Given the description of an element on the screen output the (x, y) to click on. 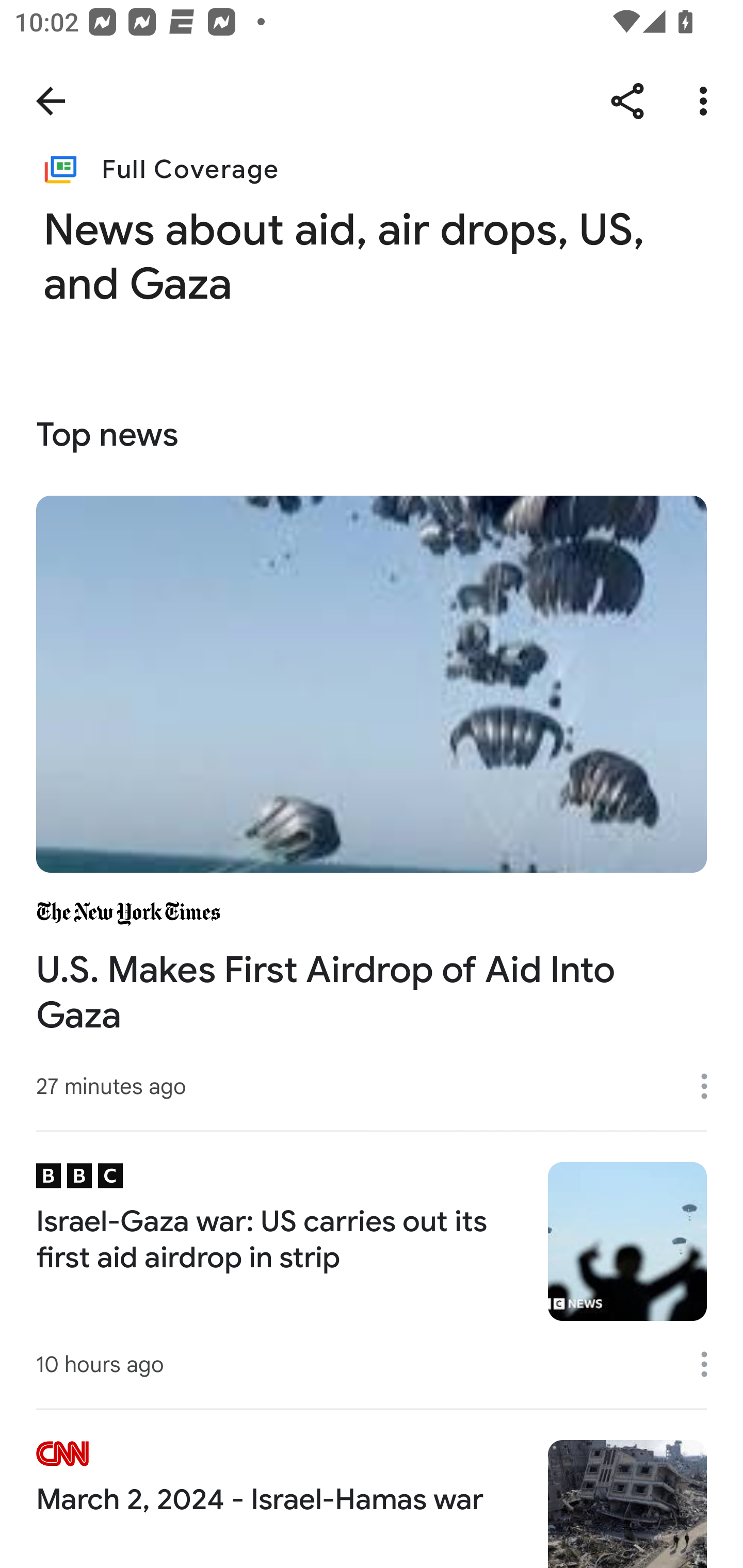
Navigate up (50, 101)
Share (626, 101)
More options (706, 101)
More options (711, 1085)
More options (711, 1364)
CNN March 2, 2024 - Israel-Hamas war (371, 1488)
